Given the description of an element on the screen output the (x, y) to click on. 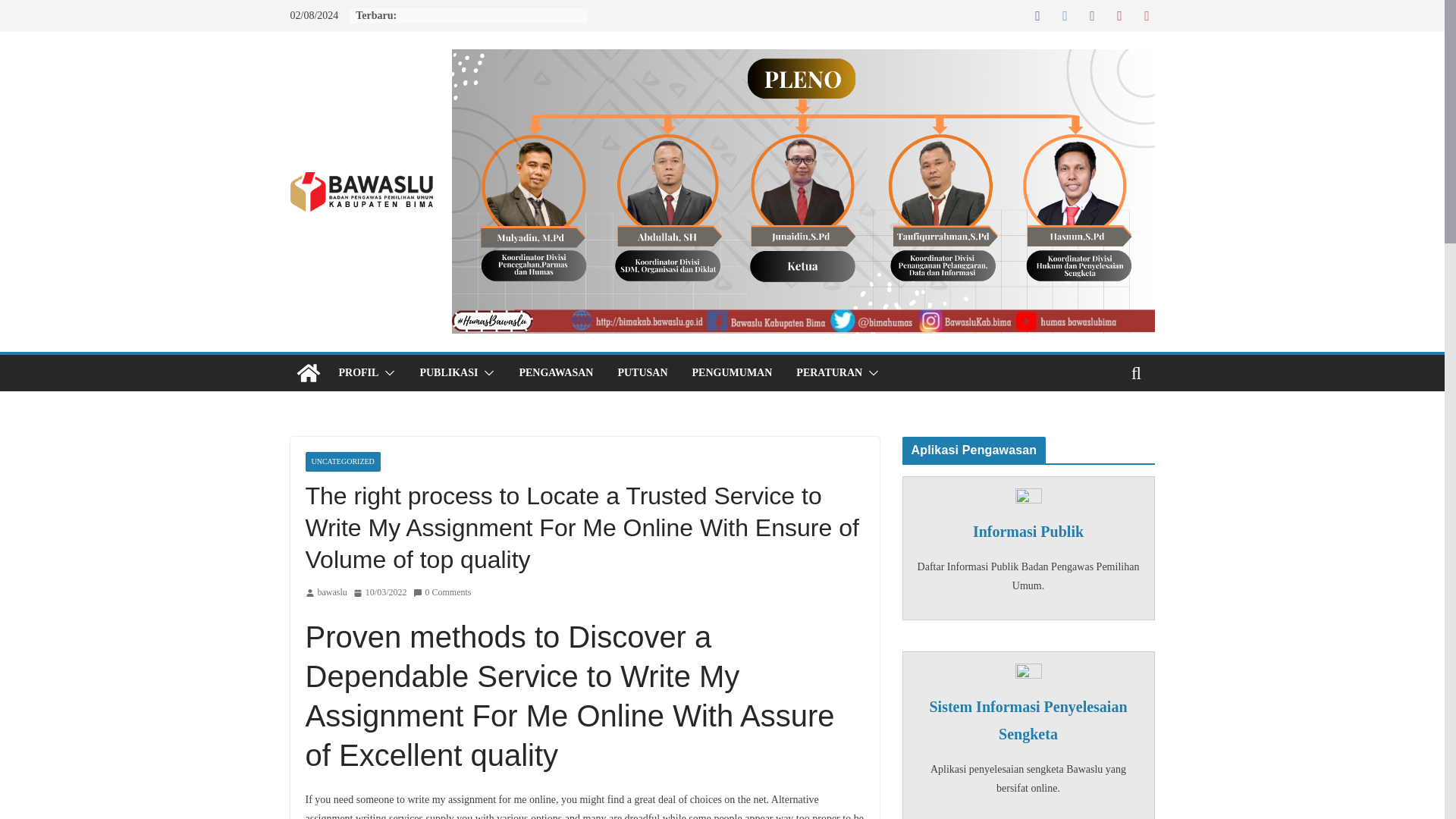
PERATURAN (828, 373)
10:39 (380, 592)
PUBLIKASI (448, 373)
Bawaslu Kabupaten Bima (307, 372)
0 Comments (441, 592)
PENGUMUMAN (733, 373)
bawaslu (331, 592)
PENGAWASAN (555, 373)
UNCATEGORIZED (342, 461)
bawaslu (331, 592)
PROFIL (357, 373)
PUTUSAN (641, 373)
